Given the description of an element on the screen output the (x, y) to click on. 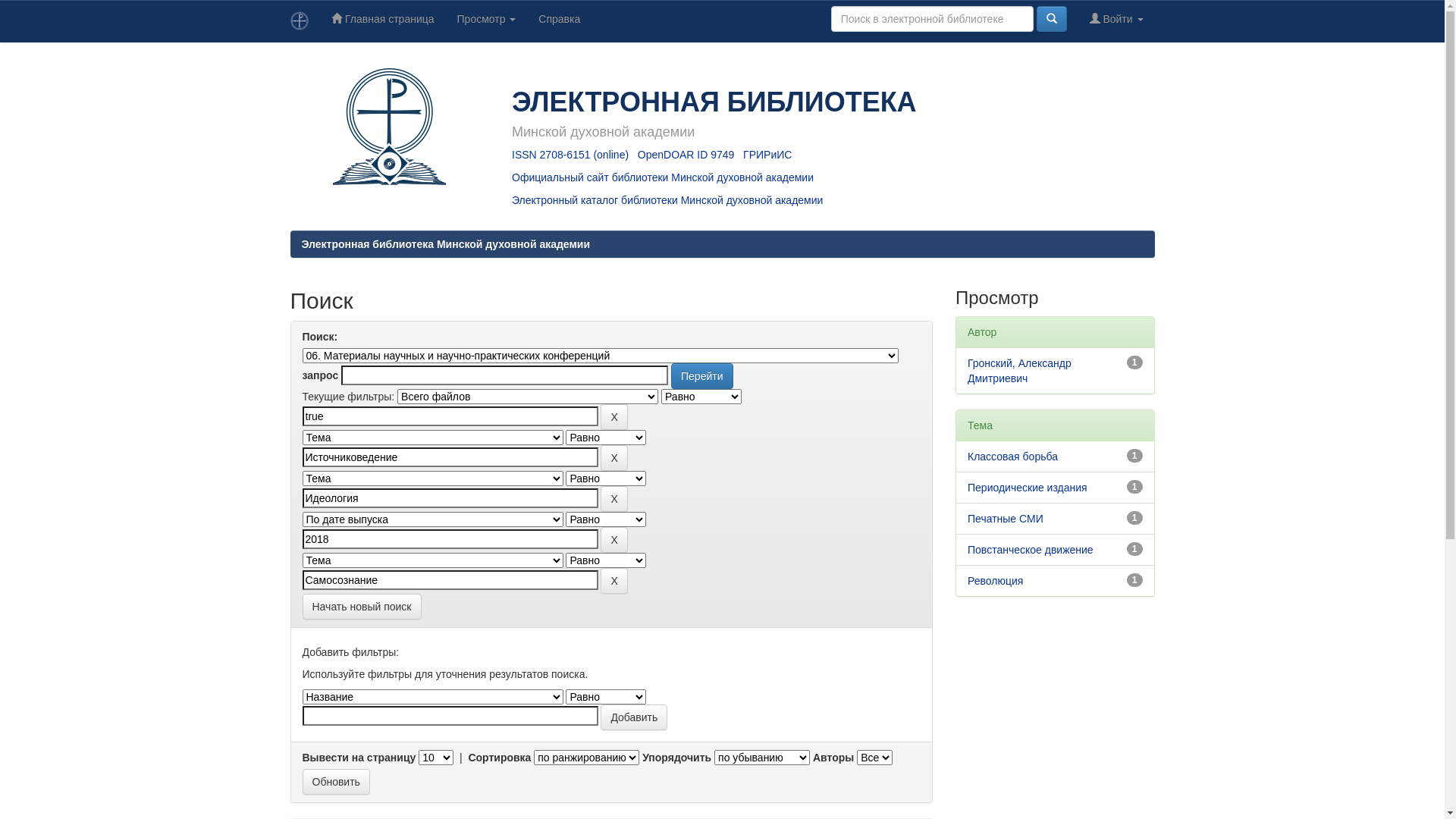
X Element type: text (613, 416)
X Element type: text (613, 580)
X Element type: text (613, 457)
ISSN 2708-6151 (online) Element type: text (569, 154)
X Element type: text (613, 539)
X Element type: text (613, 498)
OpenDOAR ID 9749 Element type: text (685, 154)
